Given the description of an element on the screen output the (x, y) to click on. 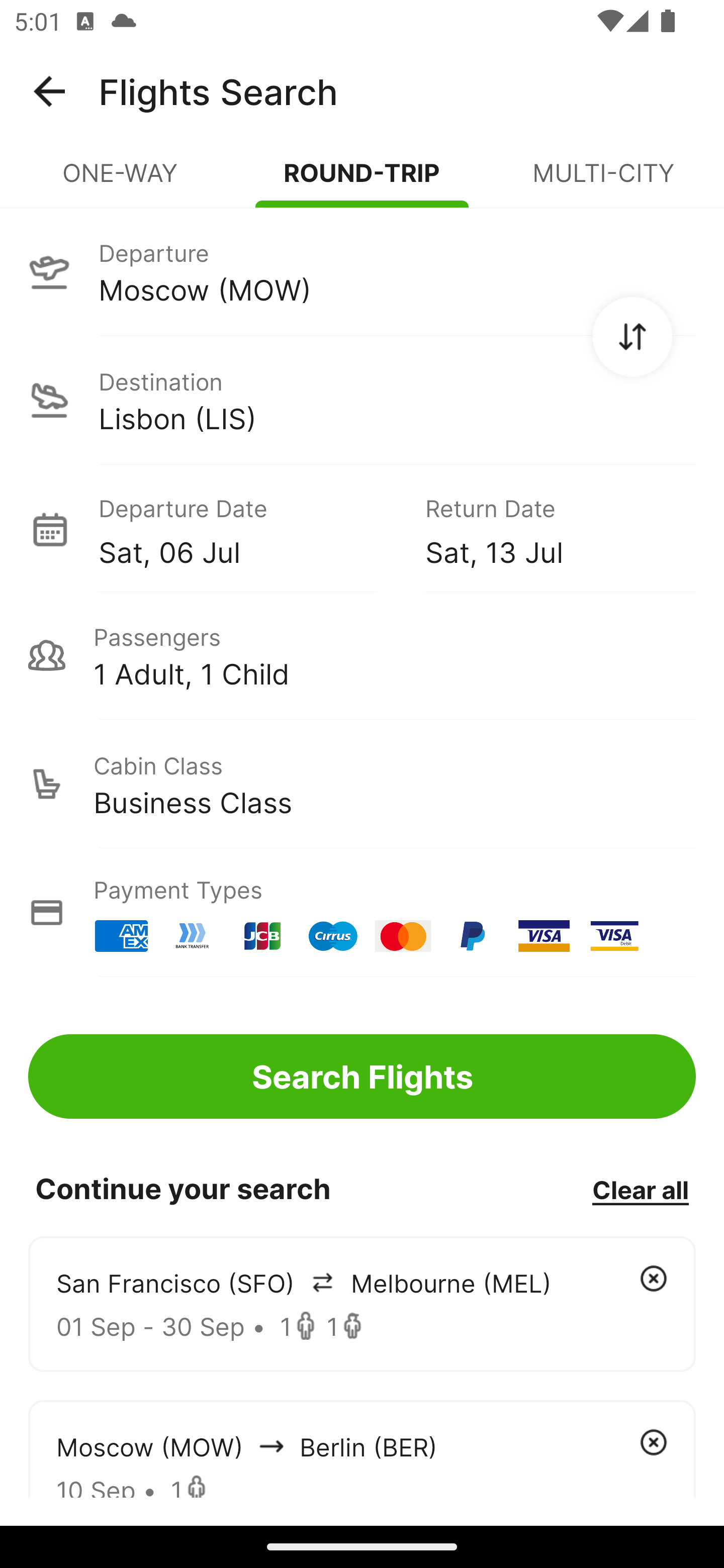
ONE-WAY (120, 180)
ROUND-TRIP (361, 180)
MULTI-CITY (603, 180)
Departure Moscow (MOW) (362, 270)
Destination Lisbon (LIS) (362, 400)
Departure Date Sat, 06 Jul (247, 528)
Return Date Sat, 13 Jul (546, 528)
Passengers 1 Adult, 1 Child (362, 655)
Cabin Class Business Class (362, 783)
Payment Types (362, 912)
Search Flights (361, 1075)
Clear all (640, 1189)
Moscow (MOW)  arrowIcon  Berlin (BER) 10 Sep •  1  (361, 1448)
